Given the description of an element on the screen output the (x, y) to click on. 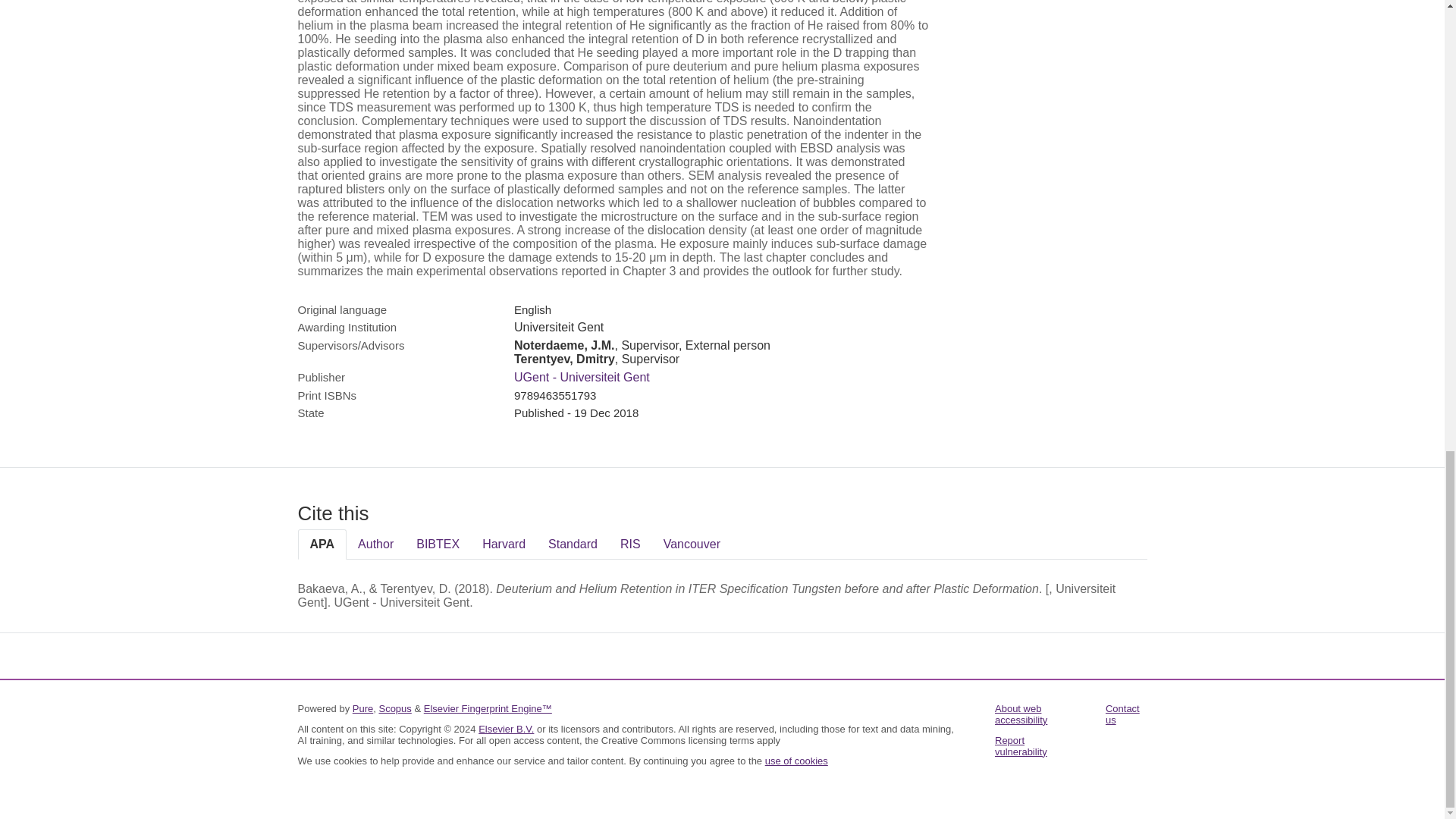
use of cookies (796, 760)
Elsevier B.V. (506, 728)
Scopus (394, 708)
About web accessibility (1020, 713)
Contact us (1122, 713)
UGent - Universiteit Gent (581, 377)
Pure (362, 708)
Report vulnerability (1020, 745)
